Given the description of an element on the screen output the (x, y) to click on. 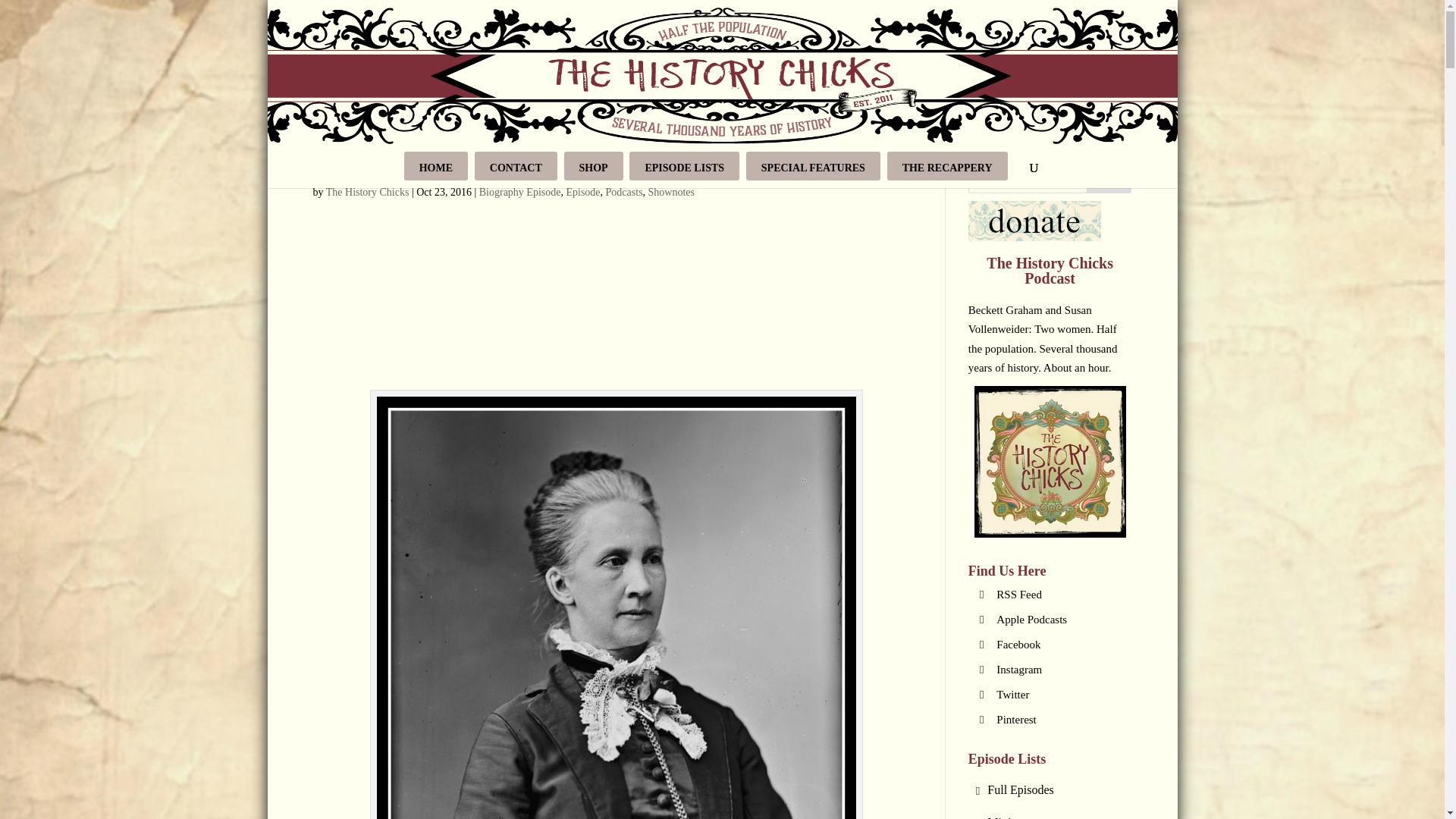
HOME (435, 165)
SHOP (593, 165)
EPISODE LISTS (683, 165)
Posts by The History Chicks (367, 192)
SPECIAL FEATURES (812, 165)
THE RECAPPERY (946, 165)
CONTACT (515, 165)
